Given the description of an element on the screen output the (x, y) to click on. 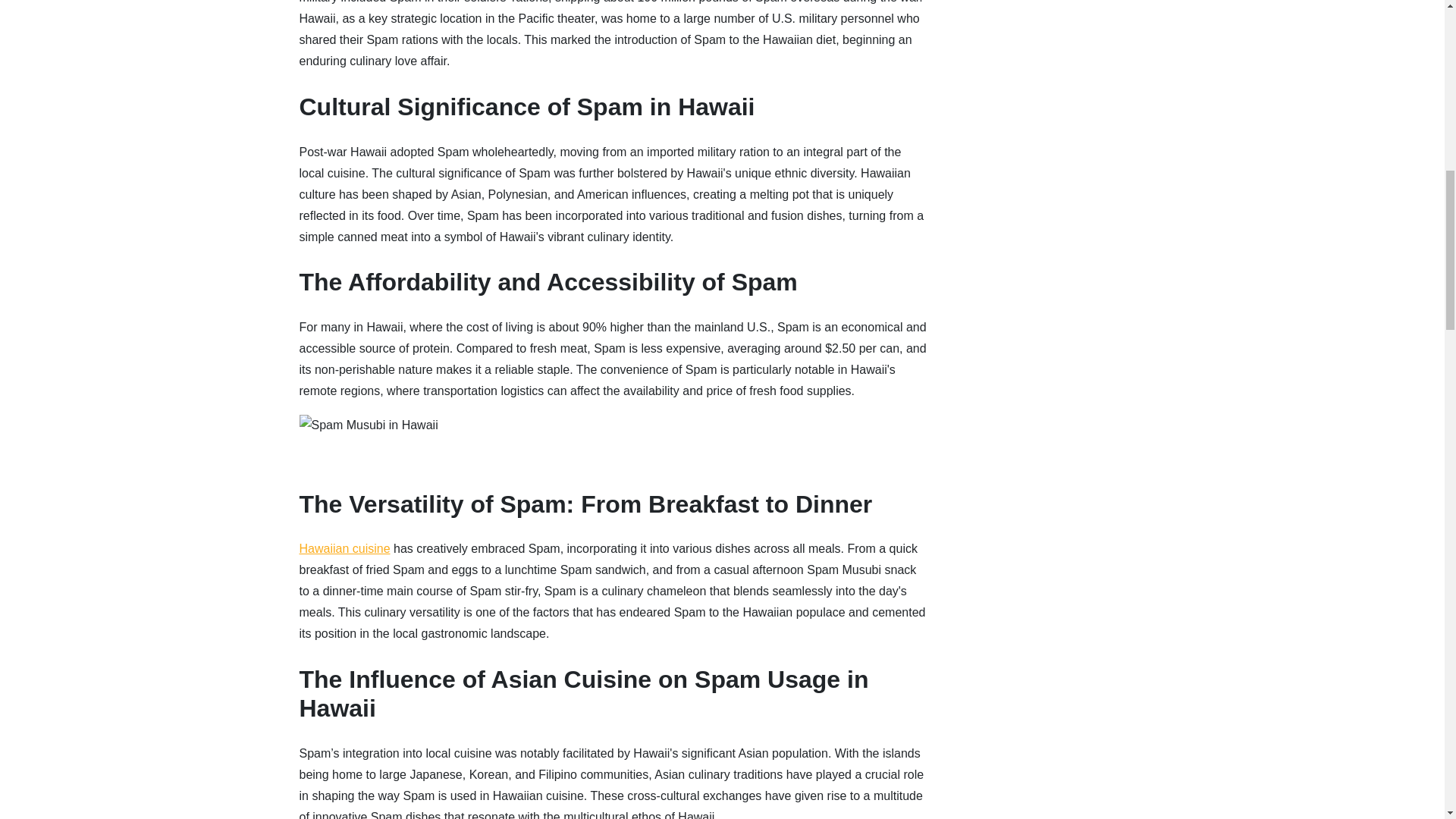
Hawaiian cuisine (344, 548)
